Given the description of an element on the screen output the (x, y) to click on. 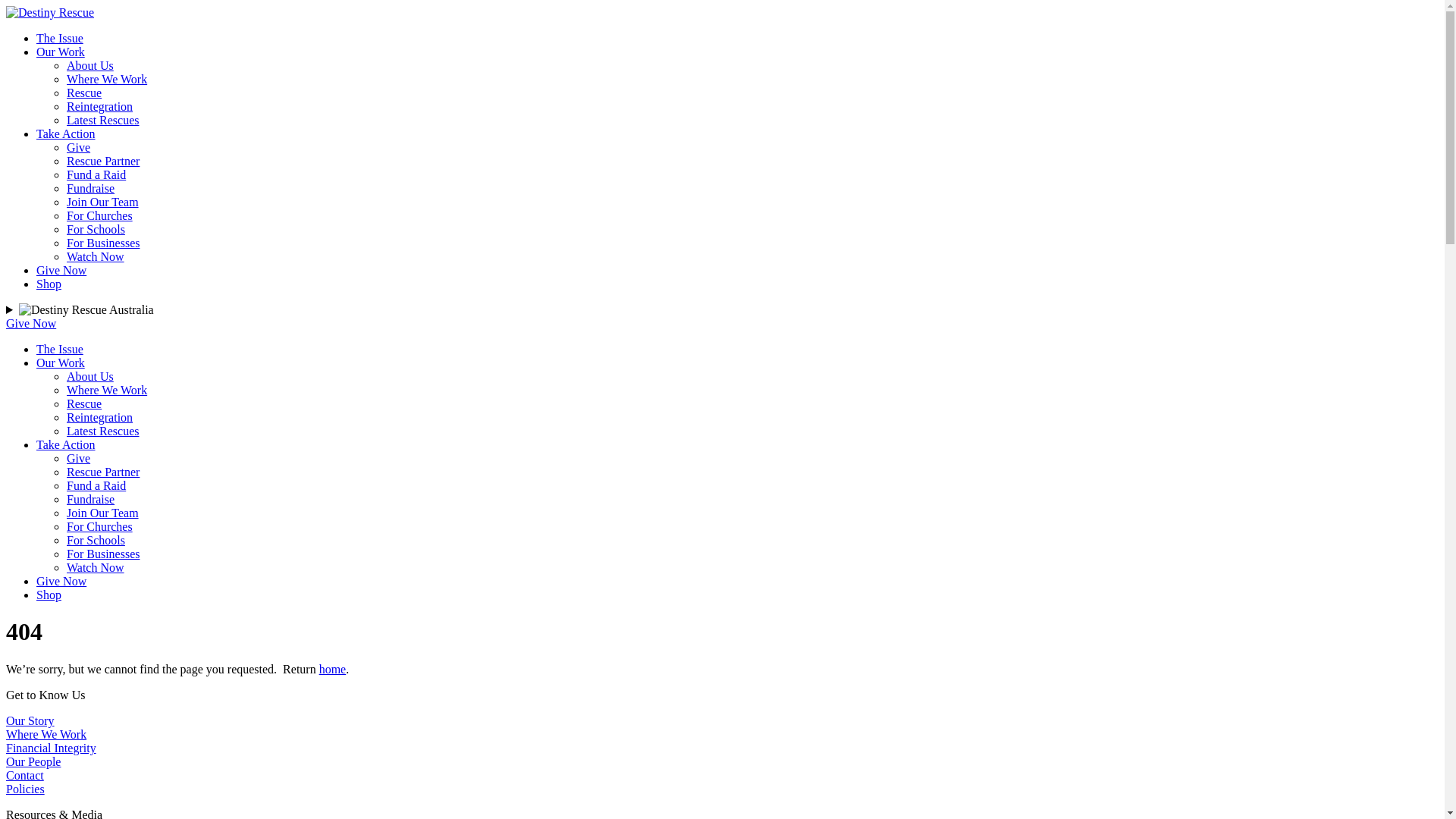
For Businesses Element type: text (102, 242)
Financial Integrity Element type: text (51, 747)
Take Action Element type: text (65, 133)
Give Element type: text (78, 457)
Give Now Element type: text (61, 269)
Fund a Raid Element type: text (95, 485)
Fundraise Element type: text (90, 188)
Our Work Element type: text (60, 362)
Where We Work Element type: text (46, 734)
Fundraise Element type: text (90, 498)
home Element type: text (332, 668)
Join Our Team Element type: text (102, 201)
For Churches Element type: text (99, 215)
Our People Element type: text (33, 761)
About Us Element type: text (89, 376)
Give Now Element type: text (61, 580)
Fund a Raid Element type: text (95, 174)
Give Now Element type: text (31, 322)
Shop Element type: text (48, 594)
Policies Element type: text (25, 788)
About Us Element type: text (89, 65)
Take Action Element type: text (65, 444)
Destiny Rescue Element type: hover (50, 12)
Rescue Partner Element type: text (102, 160)
Our Story Element type: text (30, 720)
Destiny Rescue US & International Element type: hover (128, 335)
Latest Rescues Element type: text (102, 430)
Shop Element type: text (48, 283)
Rescue Element type: text (83, 92)
Join Our Team Element type: text (102, 512)
Latest Rescues Element type: text (102, 119)
Where We Work Element type: text (106, 78)
Rescue Partner Element type: text (102, 471)
Our Work Element type: text (60, 51)
Contact Element type: text (24, 774)
For Schools Element type: text (95, 539)
Rescue Element type: text (83, 403)
The Issue Element type: text (59, 348)
For Churches Element type: text (99, 526)
For Schools Element type: text (95, 228)
Watch Now Element type: text (95, 256)
Watch Now Element type: text (95, 567)
For Businesses Element type: text (102, 553)
Reintegration Element type: text (99, 417)
Reintegration Element type: text (99, 106)
Where We Work Element type: text (106, 389)
The Issue Element type: text (59, 37)
Give Element type: text (78, 147)
Destiny Rescue Australia Element type: hover (85, 309)
